Given the description of an element on the screen output the (x, y) to click on. 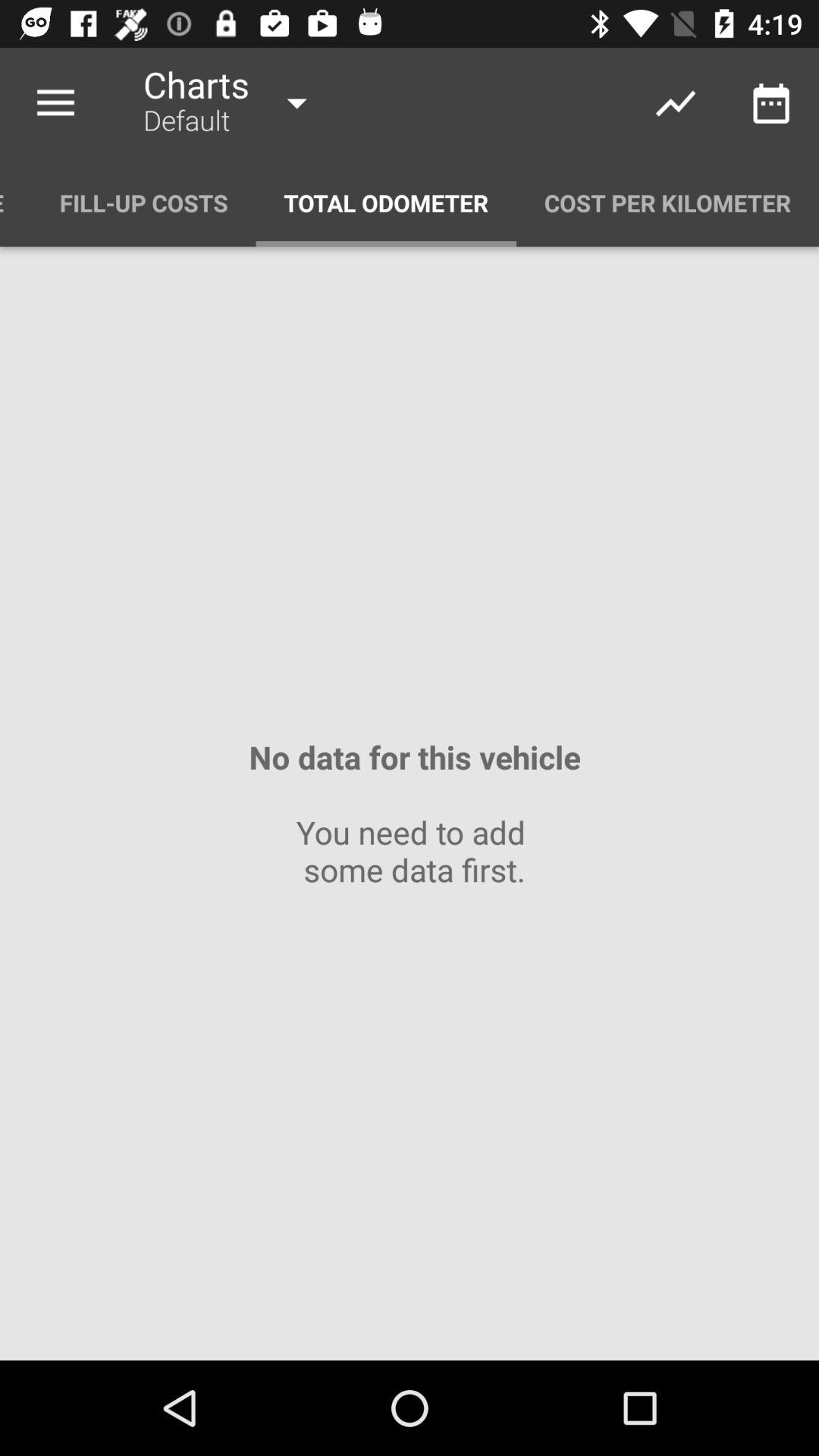
press total odometer icon (385, 202)
